Given the description of an element on the screen output the (x, y) to click on. 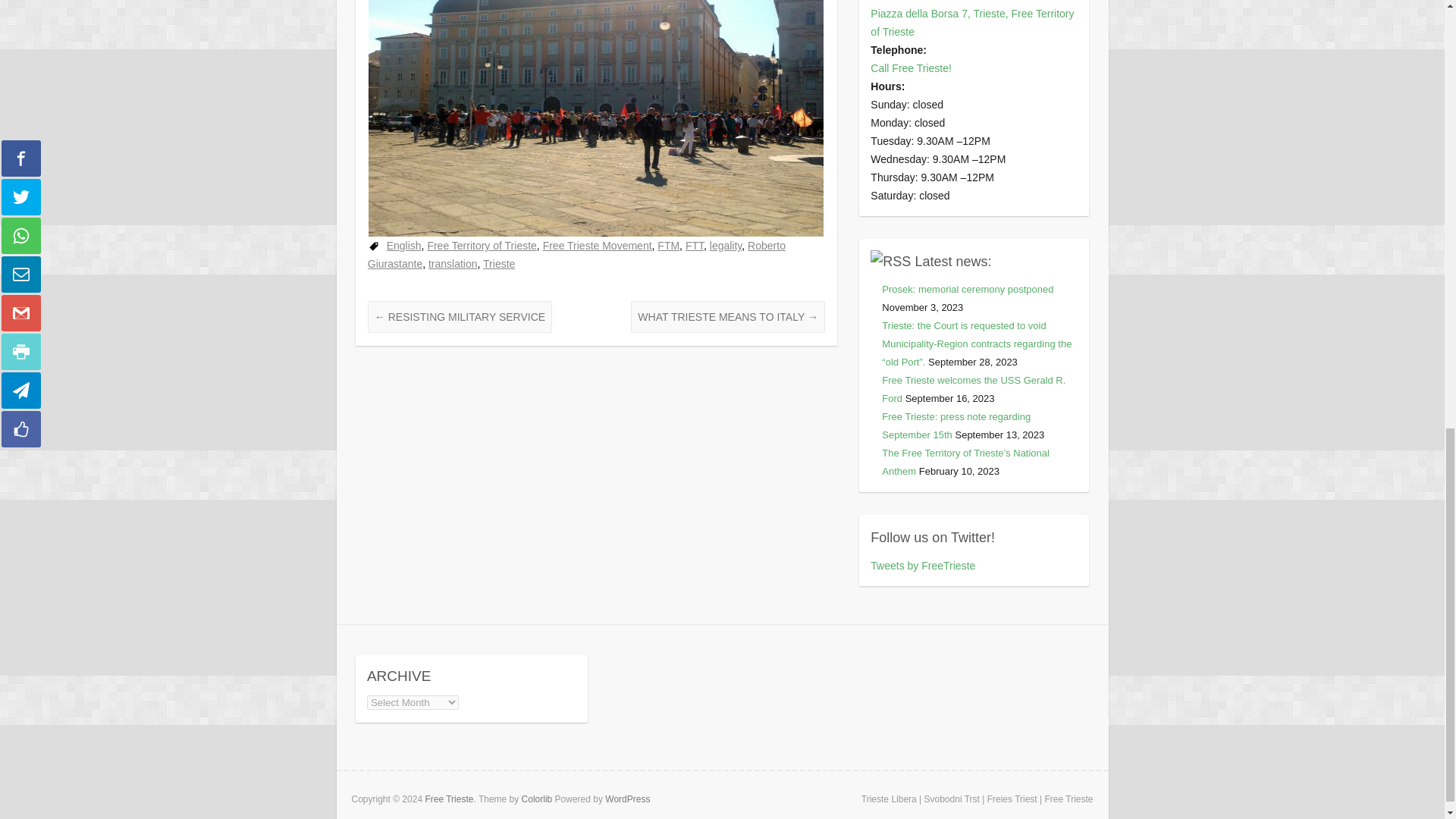
WordPress (627, 798)
Colorlib (537, 798)
Free Trieste (449, 798)
